Given the description of an element on the screen output the (x, y) to click on. 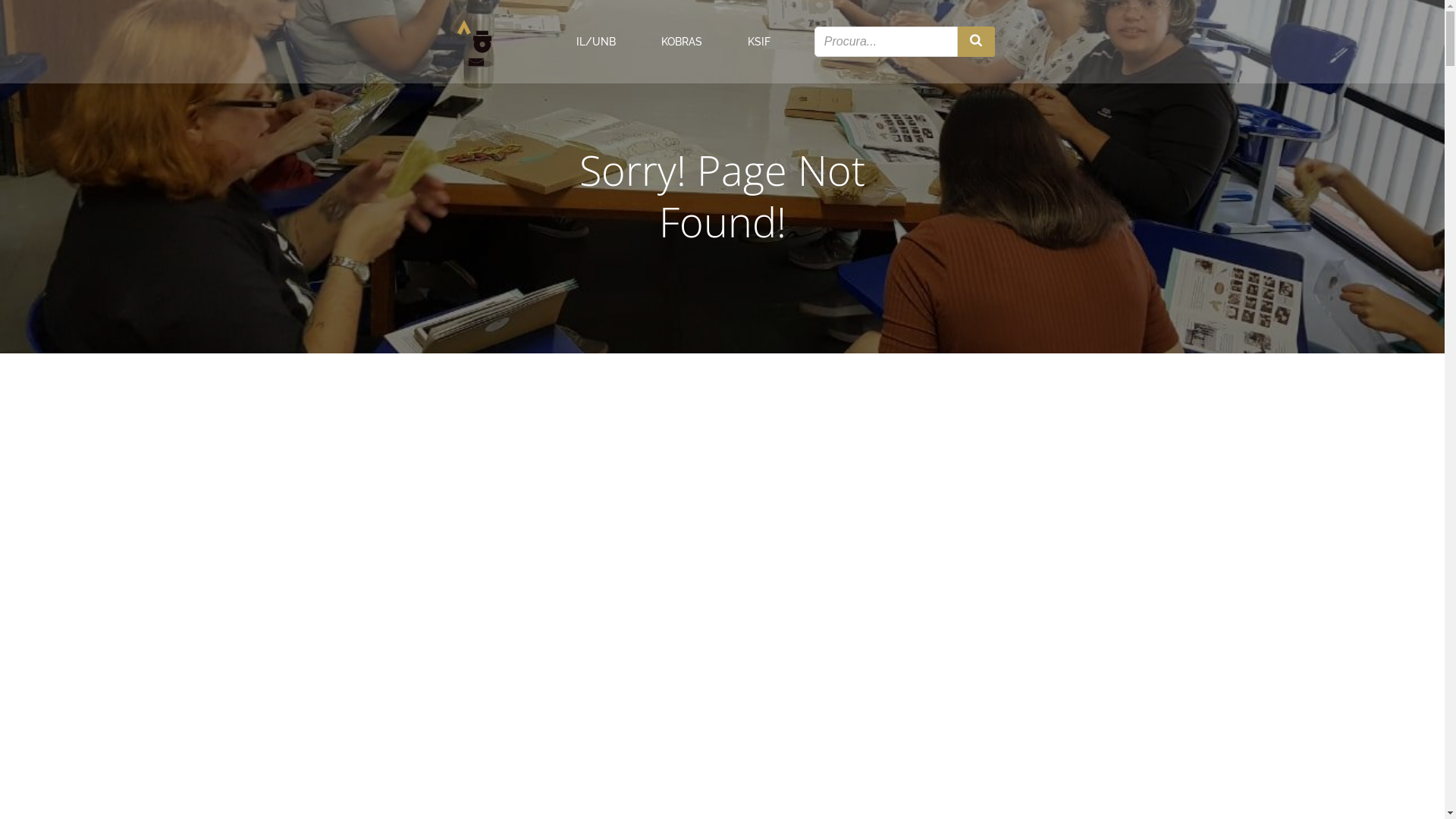
YouTube Element type: text (548, 546)
KOBRAS Element type: text (779, 743)
Coreia na UnB Element type: text (552, 676)
Instagram Element type: text (785, 676)
KSIF Element type: text (758, 41)
Facebook Element type: text (550, 513)
UnB Idiomas Element type: text (313, 743)
Eventos Element type: text (767, 513)
Instituto de Letras Element type: text (329, 676)
Facebook Element type: text (783, 709)
Nuri Sejong Hakdang Element type: text (1038, 709)
IL/UNB Element type: text (595, 41)
Instagram Element type: text (552, 479)
KOBRAS Element type: text (681, 41)
Colibri Element type: text (934, 795)
KSI Foundation Element type: text (1021, 676)
Online KSI Element type: text (1006, 743)
